Given the description of an element on the screen output the (x, y) to click on. 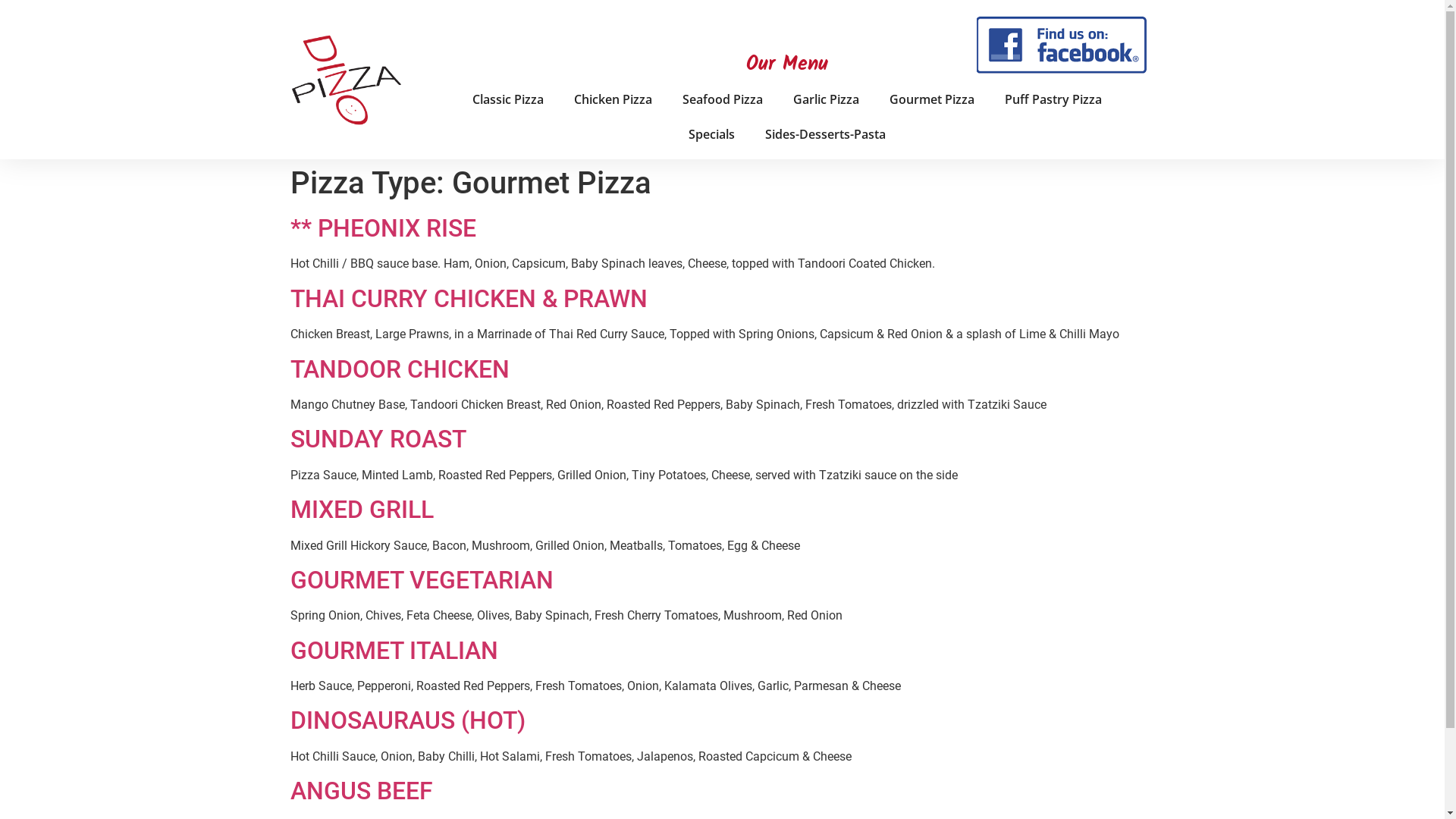
DINOSAURAUS (HOT) Element type: text (406, 720)
TANDOOR CHICKEN Element type: text (398, 368)
THAI CURRY CHICKEN & PRAWN Element type: text (467, 298)
Chicken Pizza Element type: text (612, 98)
SUNDAY ROAST Element type: text (377, 438)
GOURMET VEGETARIAN Element type: text (420, 579)
Garlic Pizza Element type: text (826, 98)
** PHEONIX RISE Element type: text (382, 227)
Seafood Pizza Element type: text (722, 98)
Puff Pastry Pizza Element type: text (1053, 98)
Gourmet Pizza Element type: text (931, 98)
Classic Pizza Element type: text (507, 98)
ANGUS BEEF Element type: text (360, 790)
Specials Element type: text (711, 133)
MIXED GRILL Element type: text (361, 509)
GOURMET ITALIAN Element type: text (393, 650)
Sides-Desserts-Pasta Element type: text (824, 133)
